Given the description of an element on the screen output the (x, y) to click on. 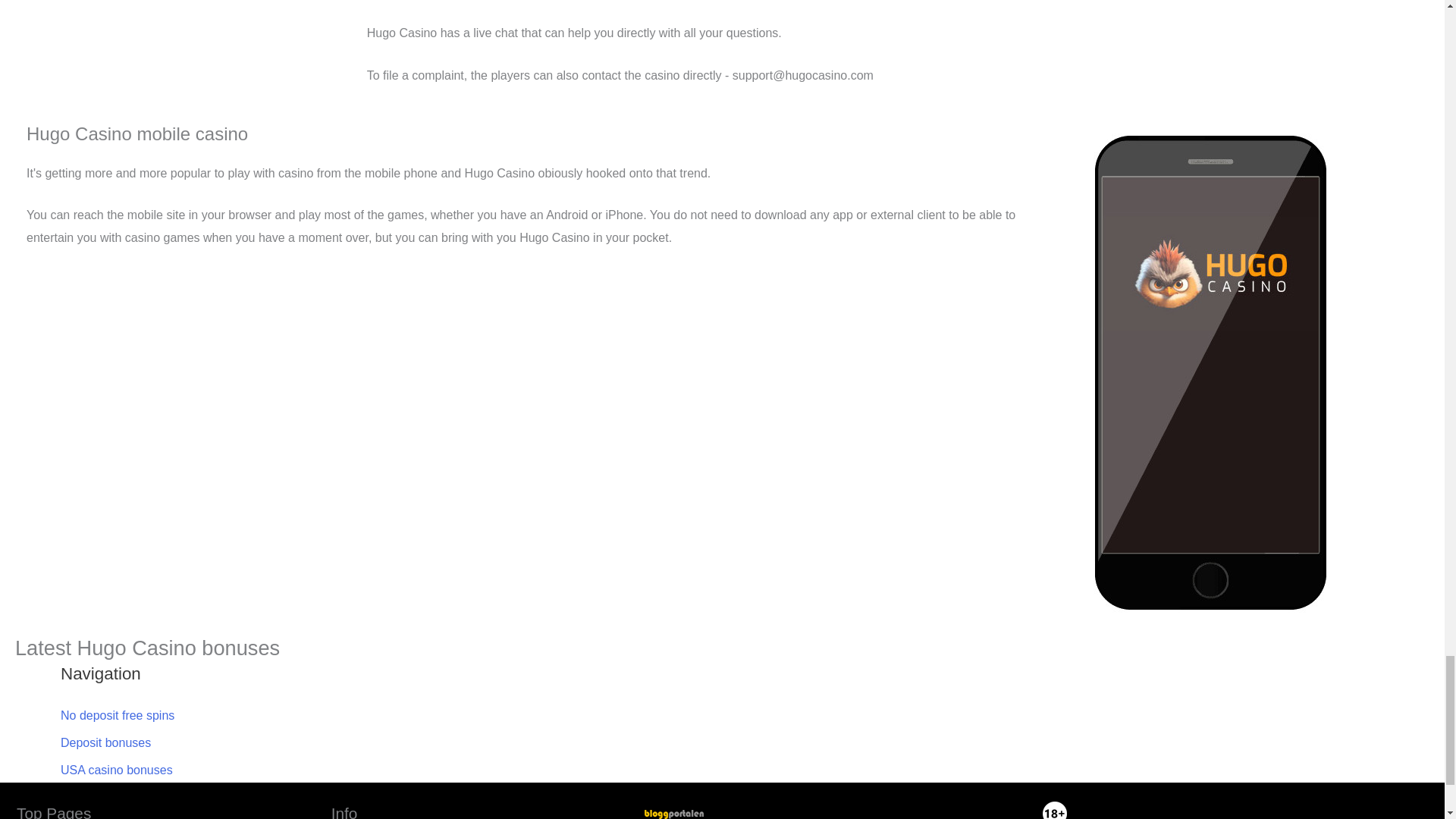
Deposit bonuses (106, 742)
USA casino bonuses (117, 769)
No deposit free spins (117, 715)
